Given the description of an element on the screen output the (x, y) to click on. 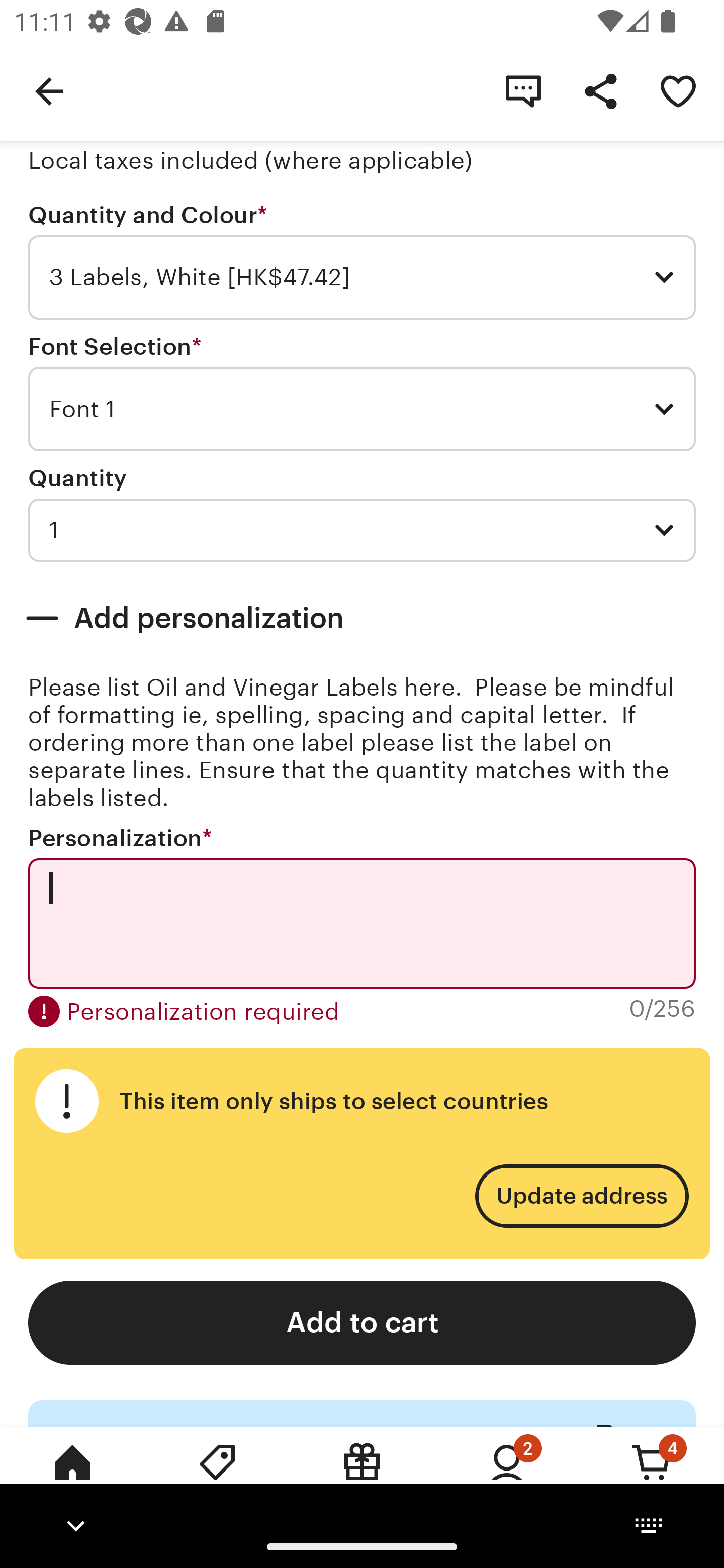
Navigate up (49, 90)
Contact shop (523, 90)
Share (600, 90)
3 Labels, White [HK$47.42] (361, 277)
Font Selection * Required Font 1 (361, 392)
Font 1 (361, 408)
Quantity (77, 477)
1 (361, 529)
Add personalization Add personalization Required (362, 617)
Update address (581, 1196)
Add to cart (361, 1323)
Deals (216, 1475)
Gift Mode (361, 1475)
You, 2 new notifications (506, 1475)
Cart, 4 new notifications (651, 1475)
